Given the description of an element on the screen output the (x, y) to click on. 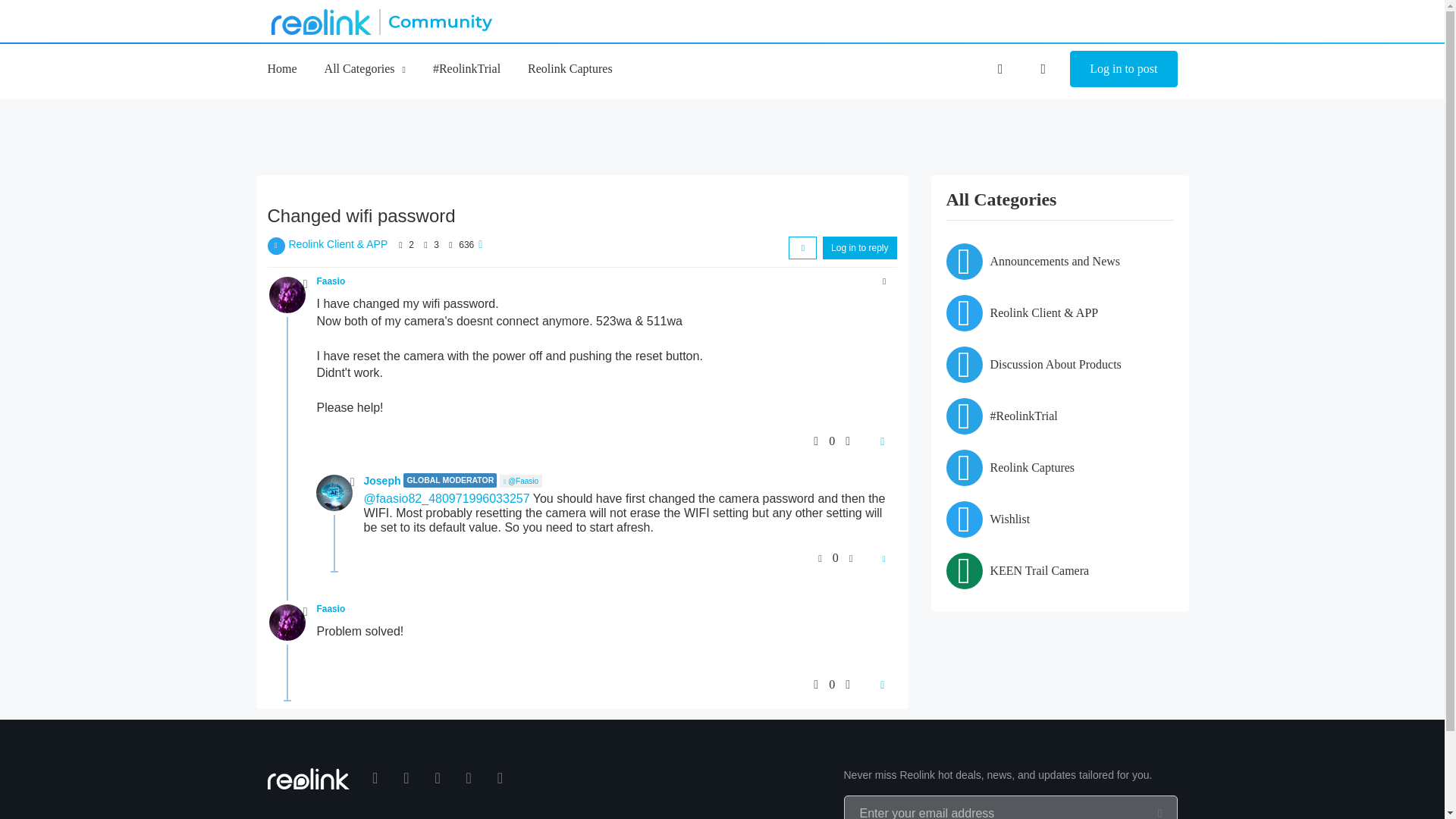
Home (281, 68)
Views (451, 244)
Faasio (331, 281)
Sort by (802, 247)
All Categories (365, 68)
636 (466, 244)
Reolink Captures (569, 68)
Posts (425, 244)
Log in to post (1123, 68)
Log in to reply (859, 247)
Posters (400, 244)
